Given the description of an element on the screen output the (x, y) to click on. 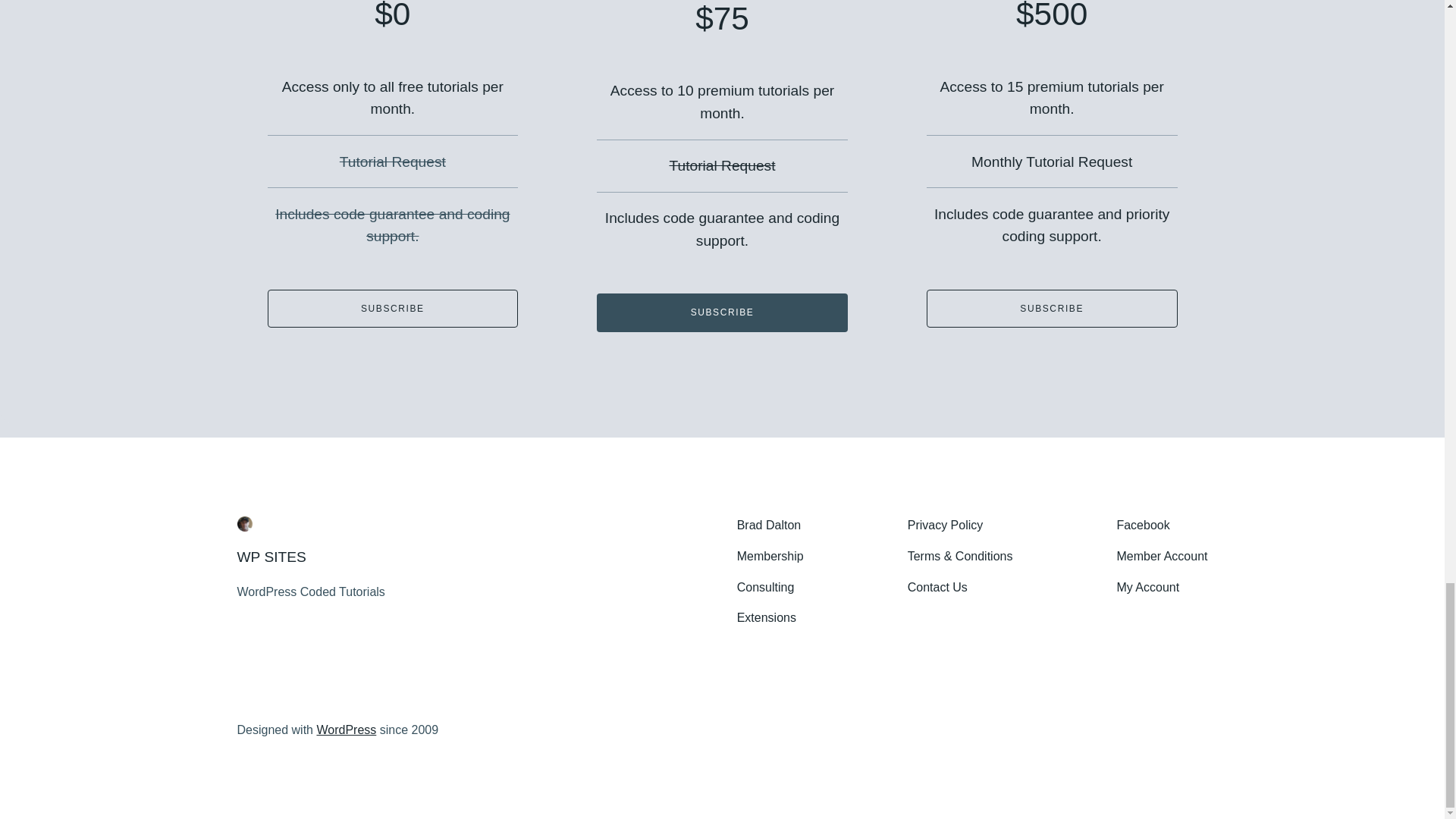
Membership (769, 556)
Facebook (1142, 525)
Member Account (1161, 556)
SUBSCRIBE (392, 308)
Contact Us (937, 587)
SUBSCRIBE (1051, 308)
SUBSCRIBE (721, 312)
Consulting (765, 587)
Extensions (766, 618)
My Account (1147, 587)
